Given the description of an element on the screen output the (x, y) to click on. 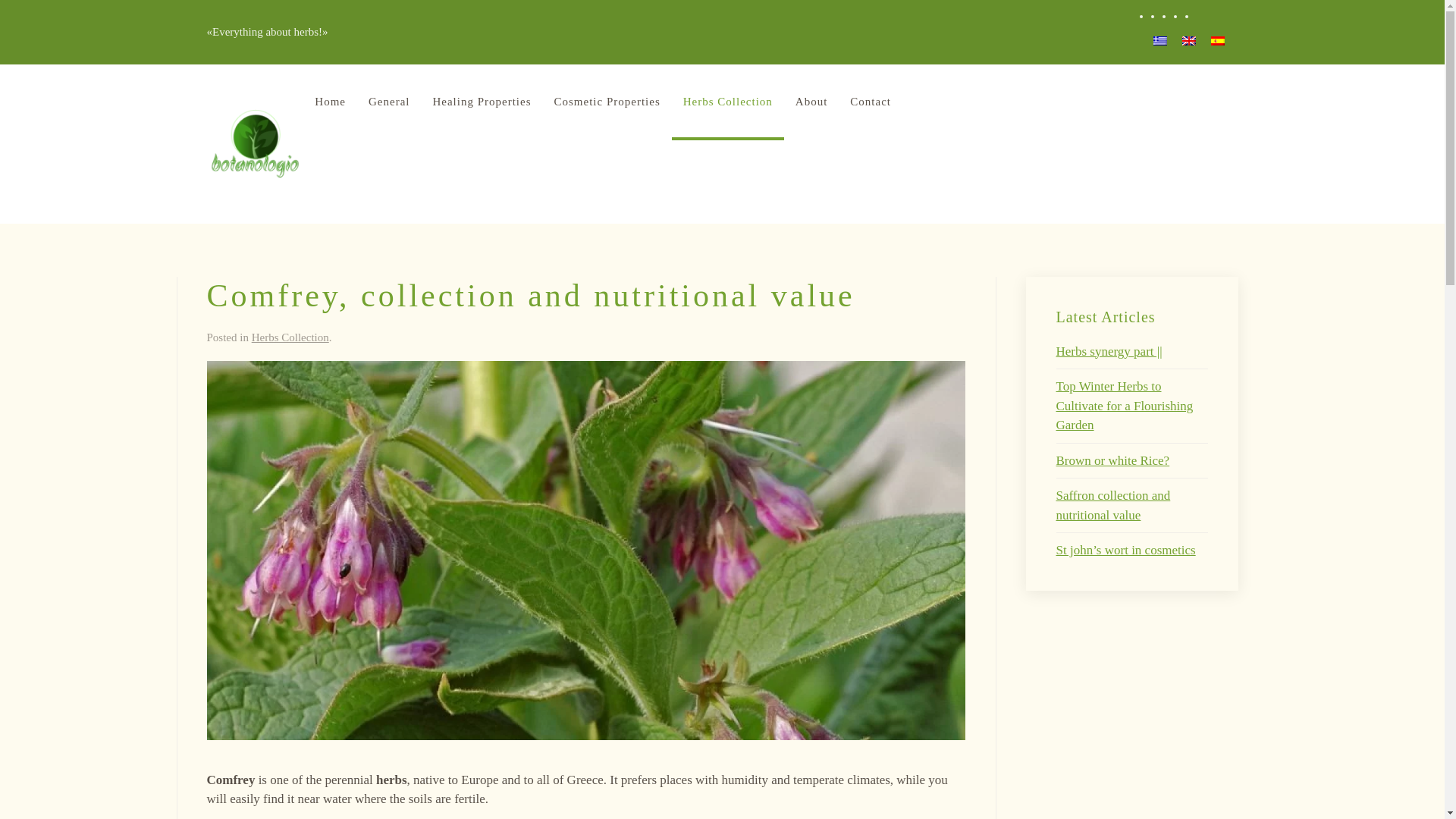
Healing Properties (480, 101)
Cosmetic Properties (607, 101)
Herbs Collection (727, 101)
